Given the description of an element on the screen output the (x, y) to click on. 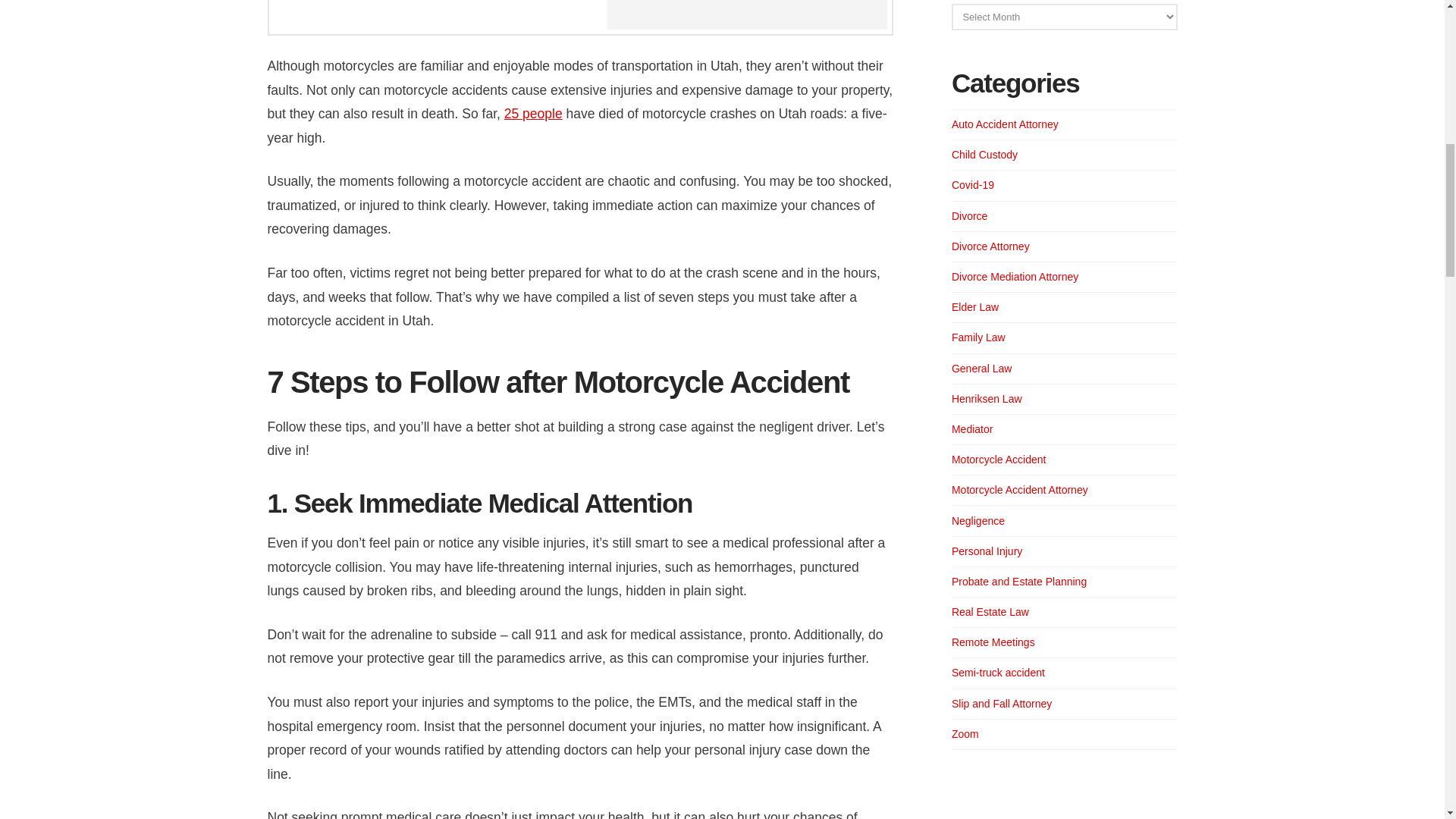
25 people (532, 113)
Auto Accident Attorney (1005, 124)
